Given the description of an element on the screen output the (x, y) to click on. 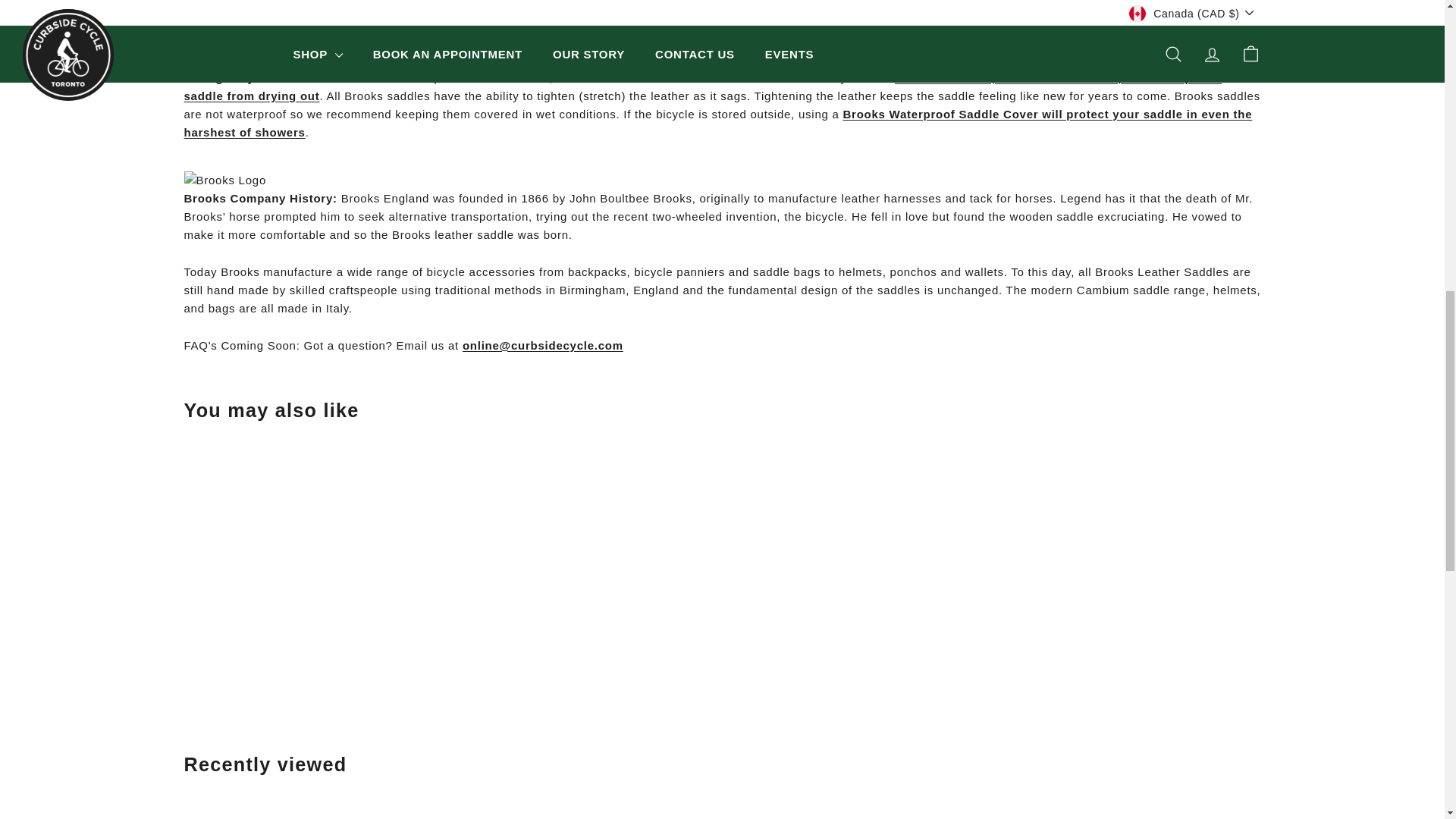
BROOKS PROOFIDE LARGE 40G TIN (702, 86)
BROOKS PROOFIDE 25G TIN (715, 30)
BROOKS WATERPROOF SADDLE COVER (717, 122)
